Given the description of an element on the screen output the (x, y) to click on. 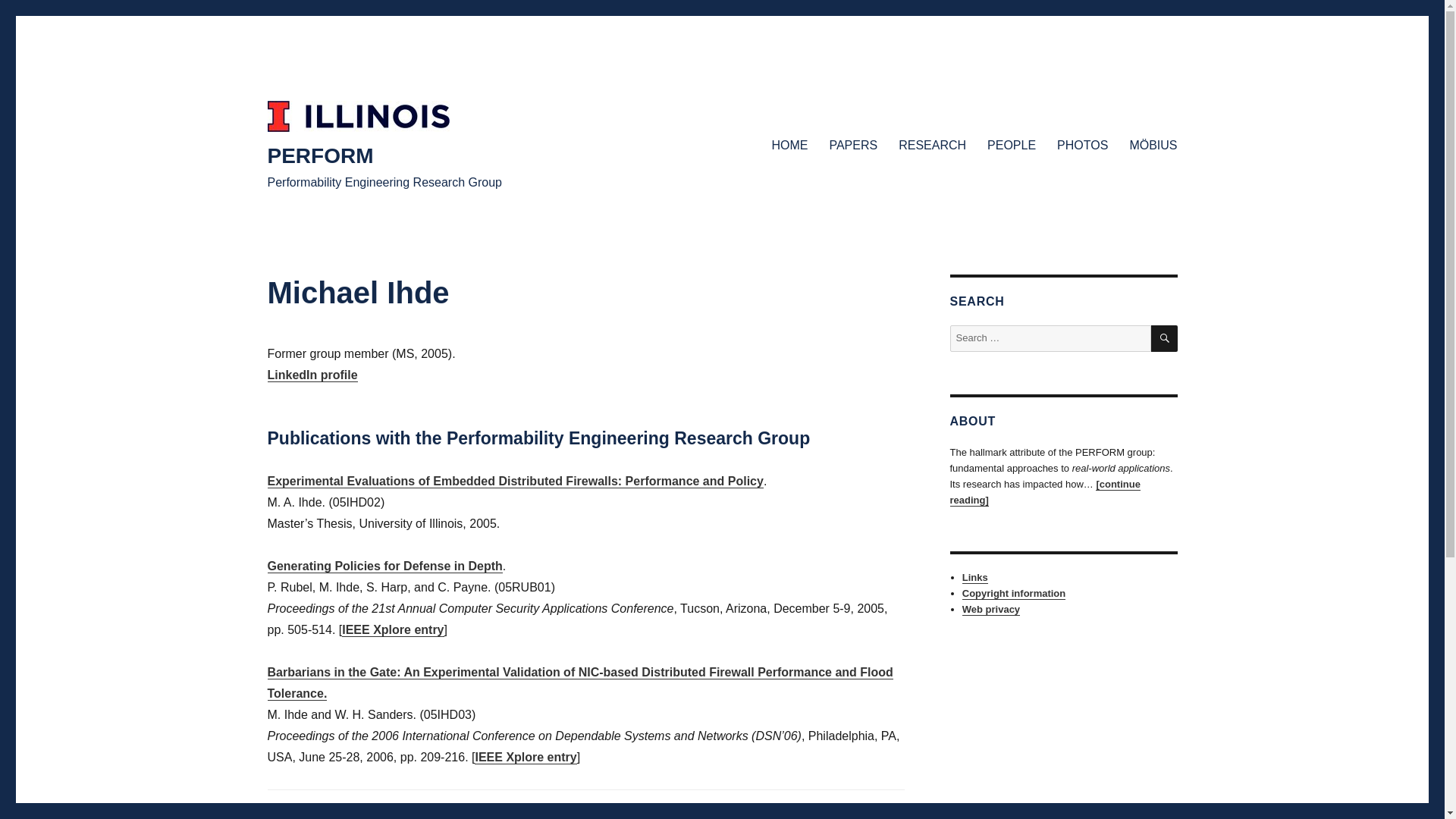
PHOTOS (1082, 144)
PAPERS (853, 144)
LinkedIn profile (311, 374)
Links (975, 577)
PEOPLE (1011, 144)
IEEE Xplore entry (525, 757)
Generating Policies for Defense in Depth (384, 565)
SEARCH (1164, 338)
Copyright information (1013, 593)
HOME (789, 144)
Web privacy (991, 609)
PERFORM (319, 155)
RESEARCH (932, 144)
